Given the description of an element on the screen output the (x, y) to click on. 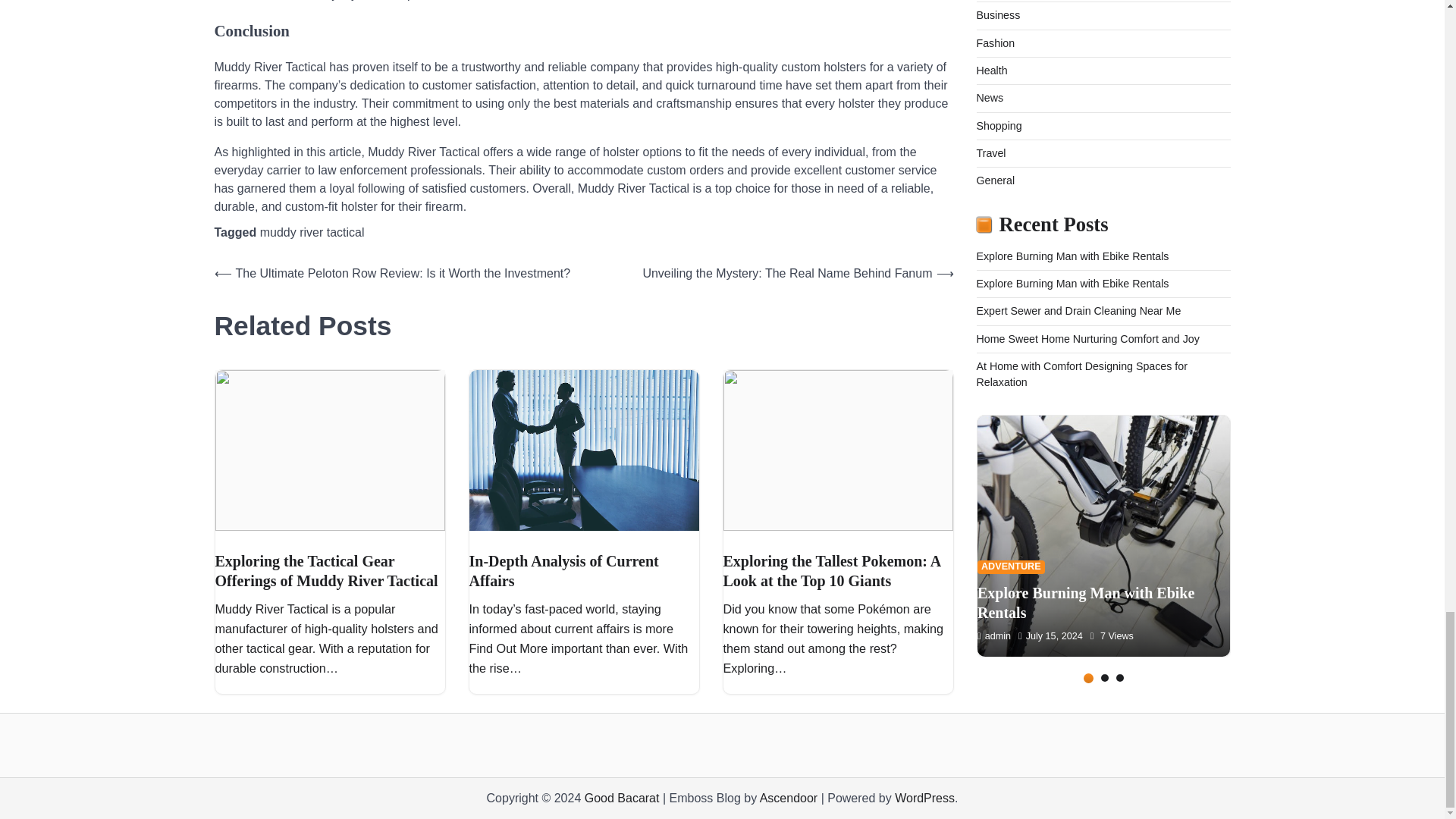
muddy river tactical (312, 232)
Exploring the Tallest Pokemon: A Look at the Top 10 Giants (832, 570)
In-Depth Analysis of Current Affairs (563, 570)
